Given the description of an element on the screen output the (x, y) to click on. 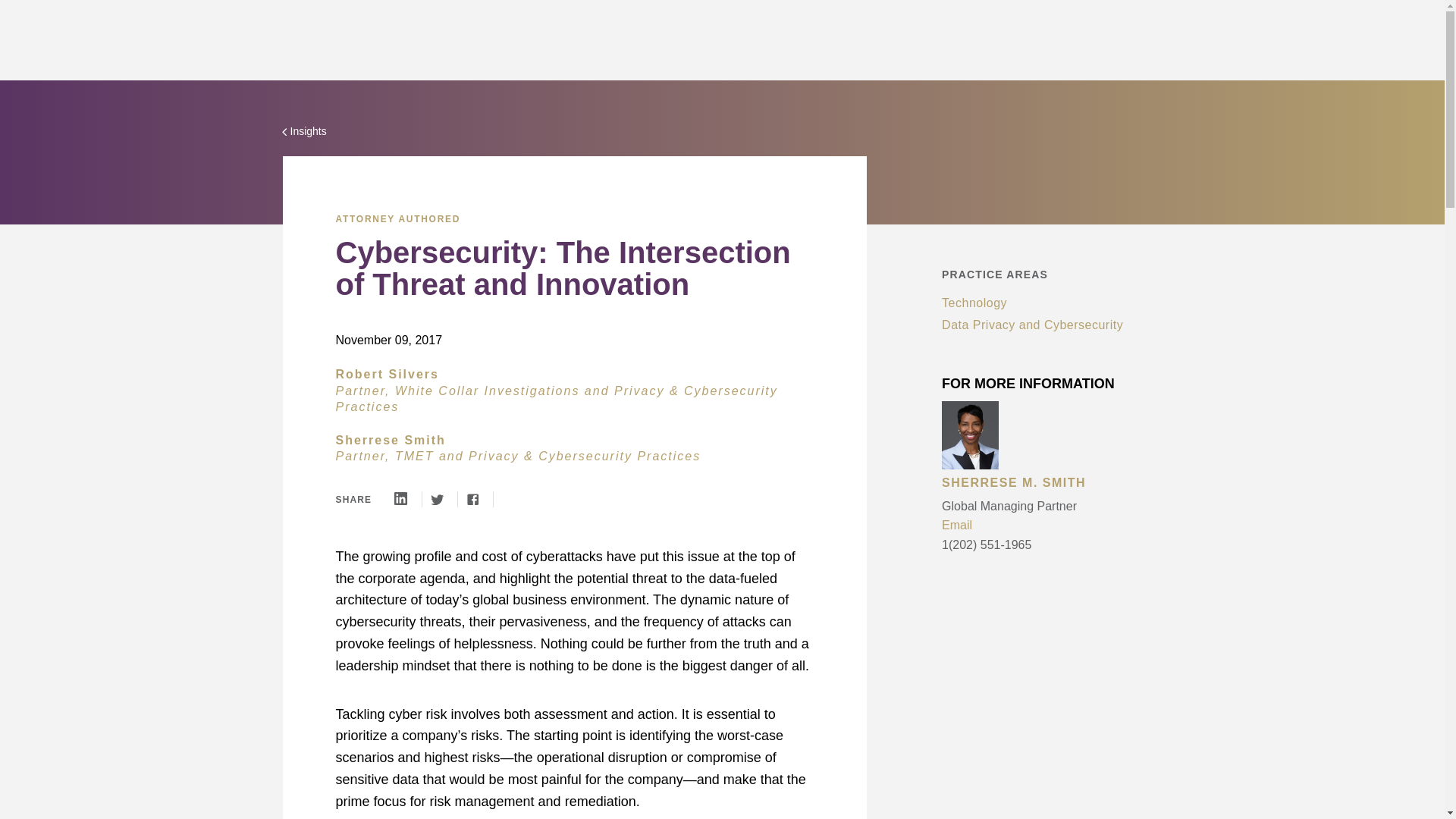
Email (1059, 525)
Sherrese Smith (389, 440)
Data Privacy and Cybersecurity (1032, 324)
SHERRESE M. SMITH (1059, 484)
Robert Silvers (386, 373)
Technology (974, 302)
